Given the description of an element on the screen output the (x, y) to click on. 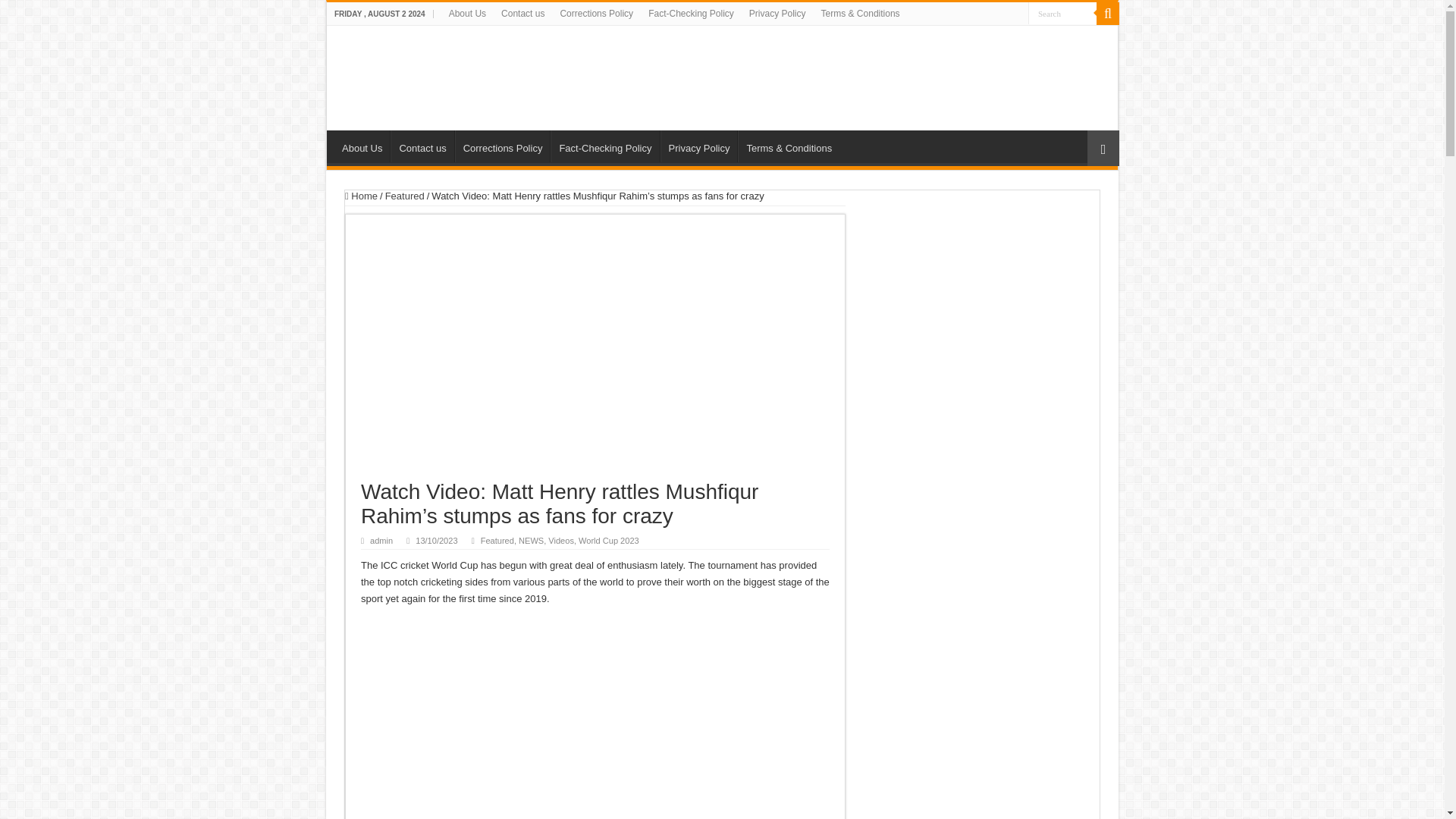
Search (1061, 13)
CricSpirit (451, 74)
Featured (405, 195)
Videos (560, 540)
Contact us (522, 13)
Search (1107, 13)
Search (1061, 13)
Corrections Policy (595, 13)
Home (361, 195)
Contact us (421, 146)
